Given the description of an element on the screen output the (x, y) to click on. 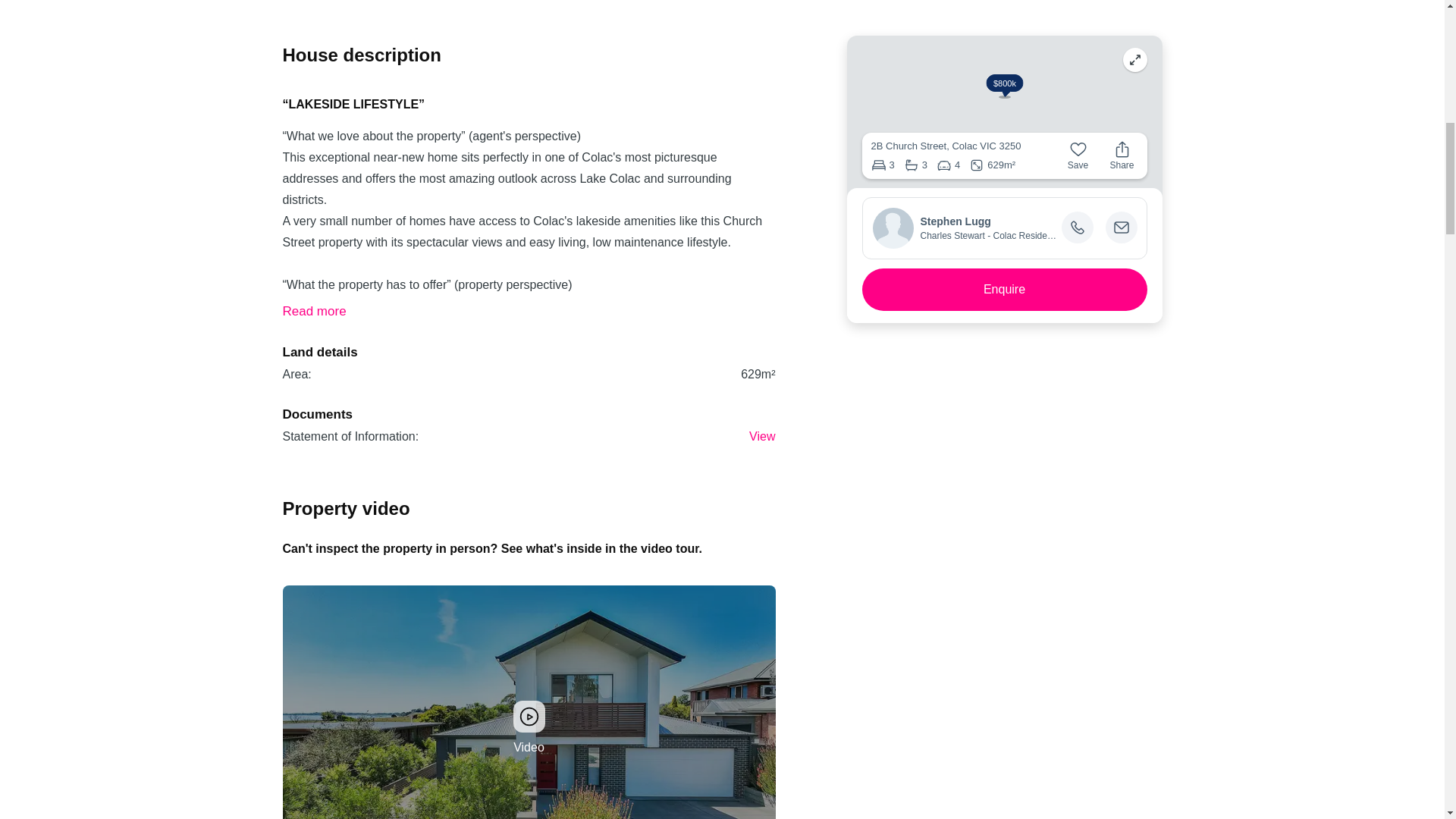
Read more (314, 311)
View (761, 436)
Video (528, 702)
